Given the description of an element on the screen output the (x, y) to click on. 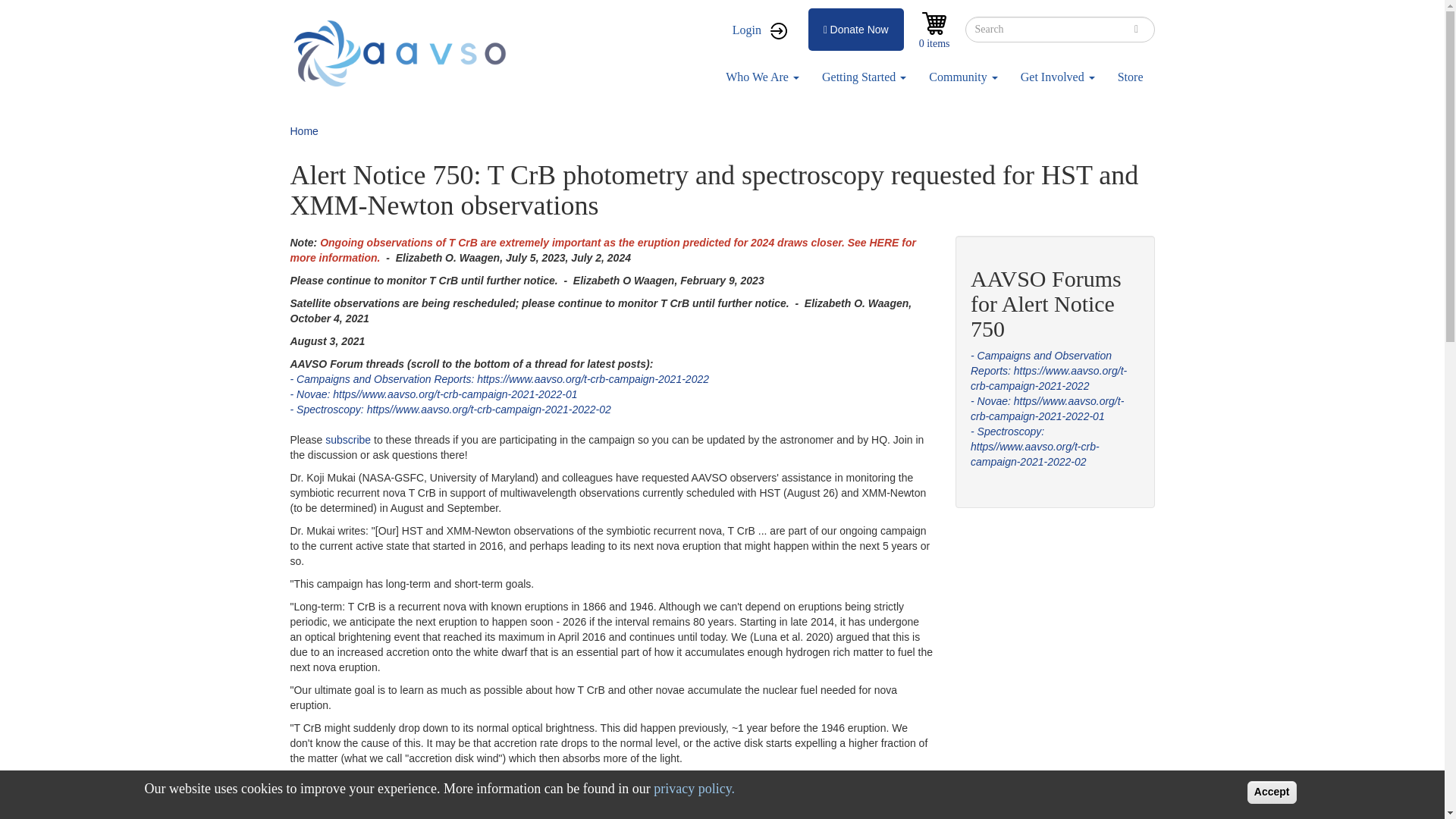
Getting Started (863, 77)
Store (1130, 77)
Home (402, 53)
Search (1136, 28)
Home (303, 131)
HERE (883, 242)
Get Involved (1057, 77)
Who We Are (762, 77)
Community (963, 77)
 Donate Now (856, 29)
Login (758, 30)
